Given the description of an element on the screen output the (x, y) to click on. 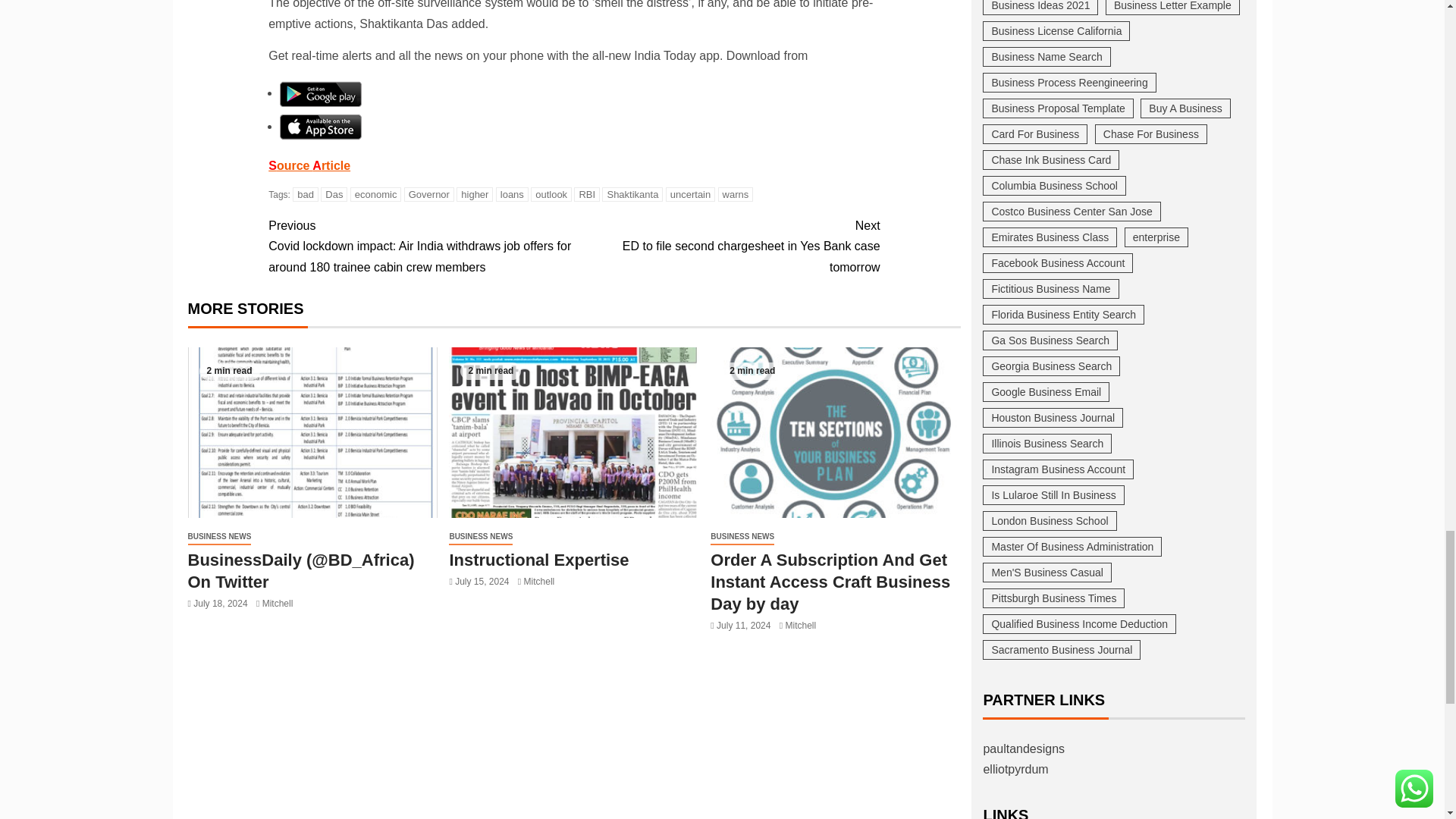
Source Article (308, 164)
Instructional Expertise (573, 432)
economic (375, 194)
Andriod App (320, 92)
bad (305, 194)
IOS App (320, 125)
Das (333, 194)
